Given the description of an element on the screen output the (x, y) to click on. 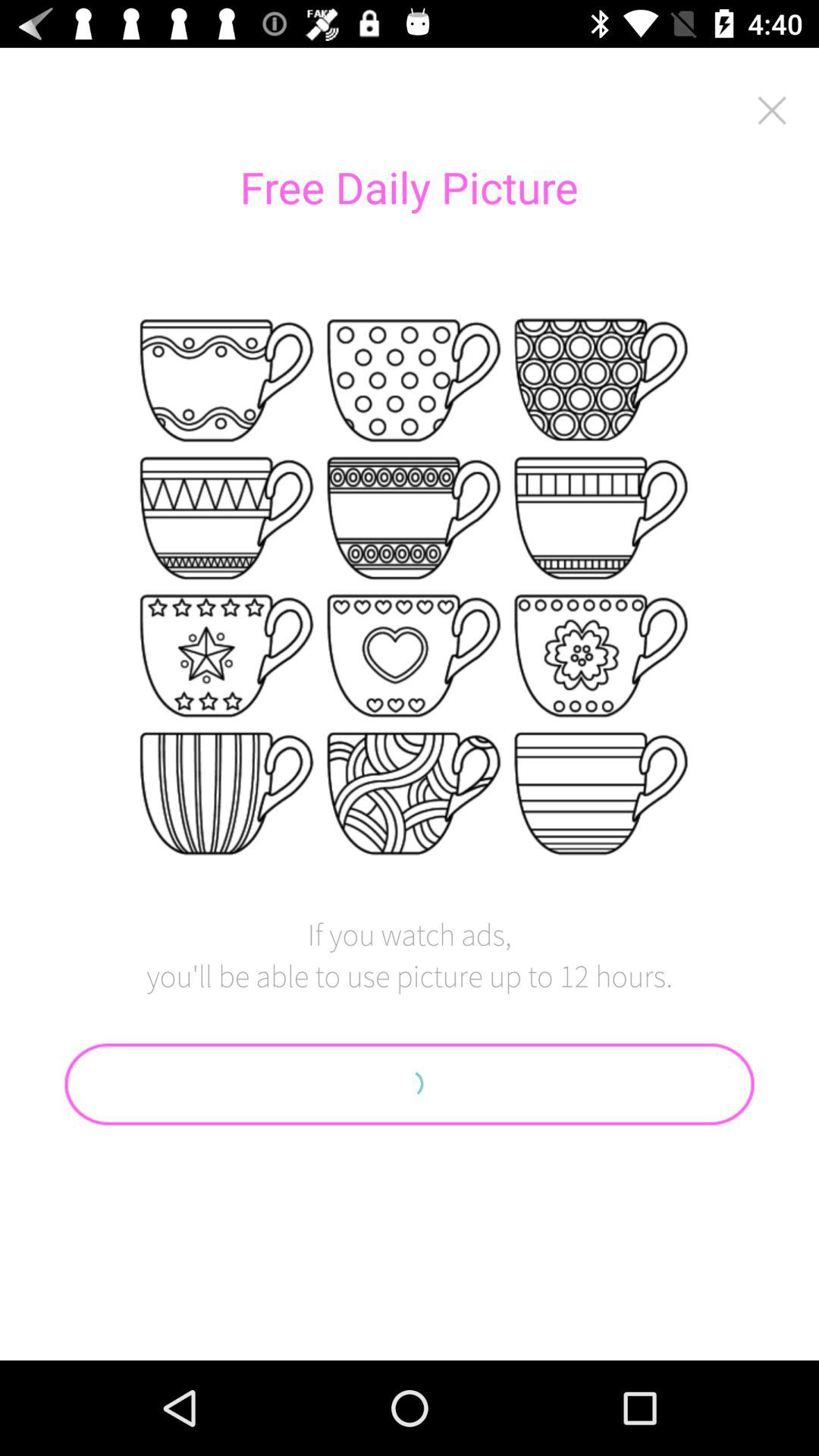
tap icon at the top right corner (772, 110)
